Given the description of an element on the screen output the (x, y) to click on. 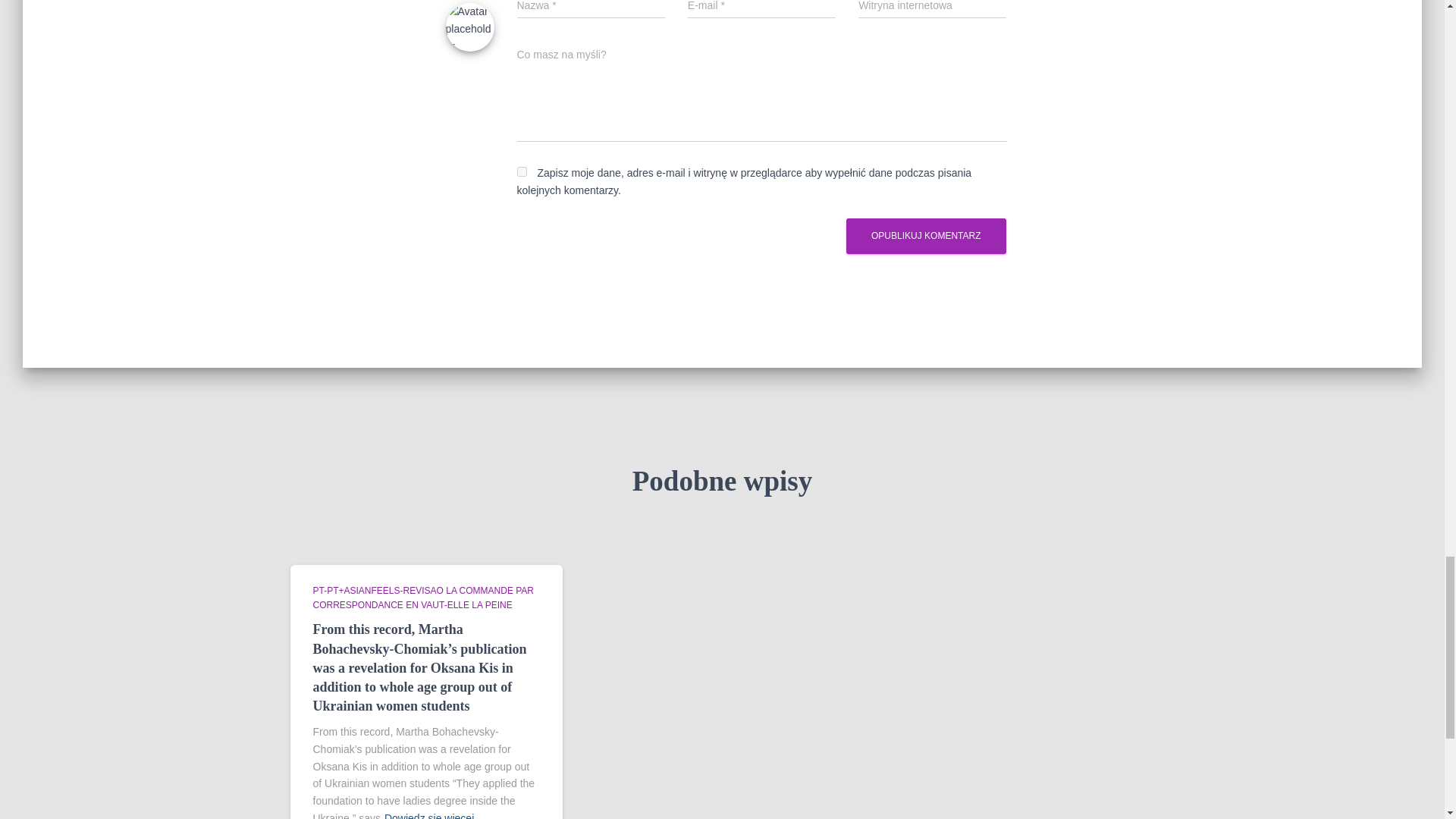
Opublikuj komentarz (925, 235)
yes (521, 171)
Opublikuj komentarz (925, 235)
